Given the description of an element on the screen output the (x, y) to click on. 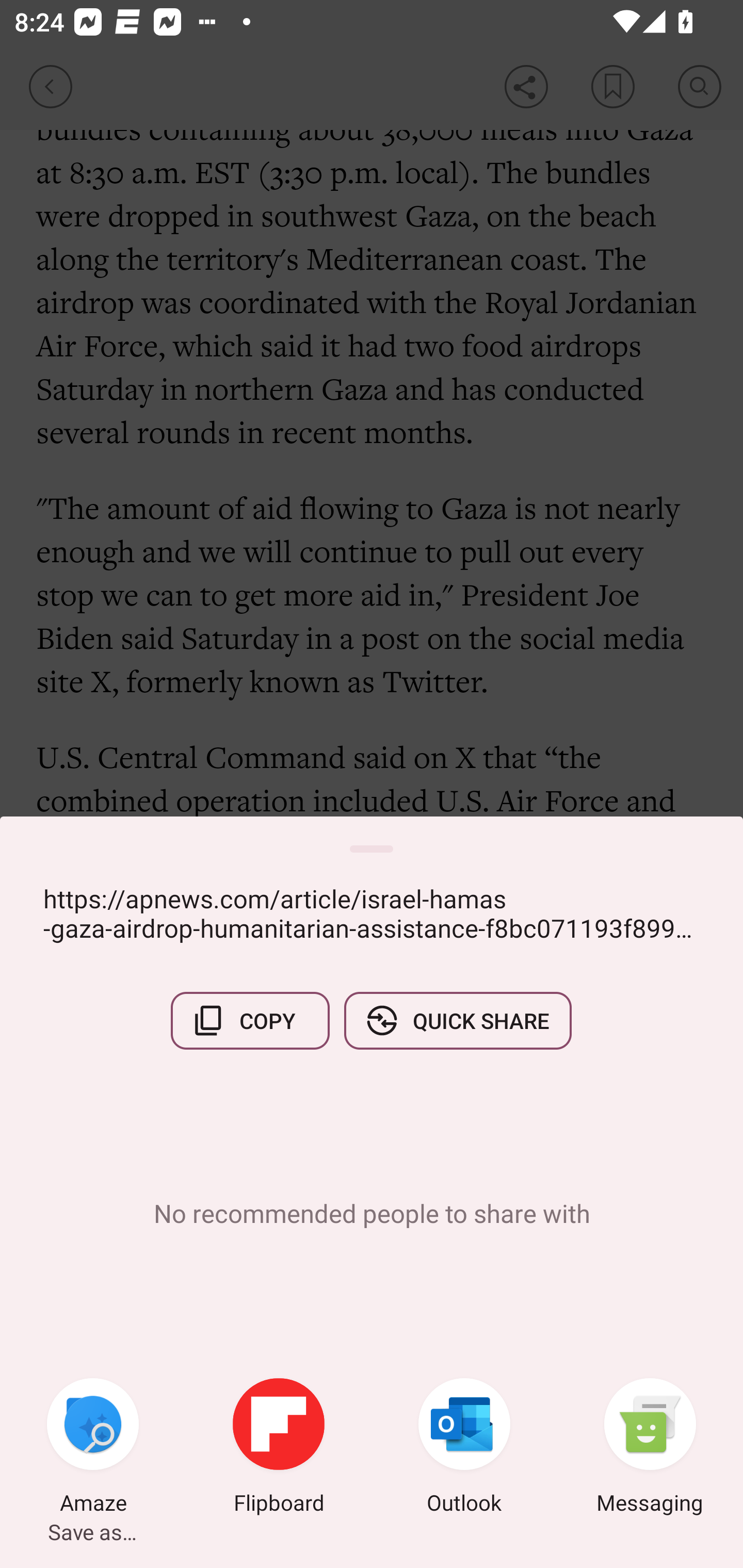
COPY (249, 1020)
QUICK SHARE (457, 1020)
Amaze Save as… (92, 1448)
Flipboard (278, 1448)
Outlook (464, 1448)
Messaging (650, 1448)
